Given the description of an element on the screen output the (x, y) to click on. 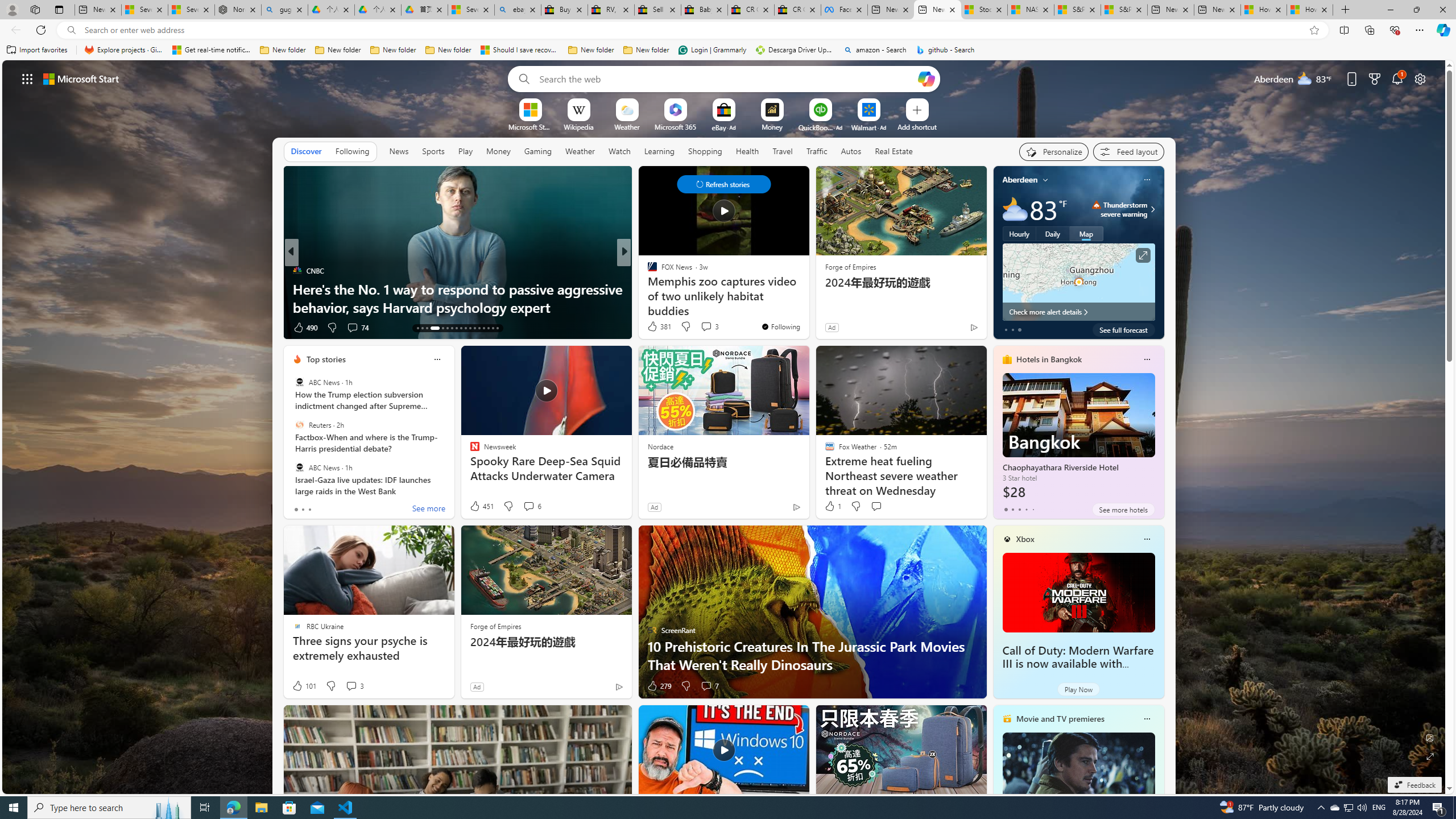
Travel (782, 151)
AutomationID: tab-29 (497, 328)
Class: control (723, 184)
82 Like (652, 327)
See more hotels (1123, 509)
AutomationID: tab-24 (474, 328)
CNN Money (647, 270)
101 Like (303, 685)
ABC News (299, 466)
Larger map  (1077, 282)
View comments 3 Comment (354, 685)
View comments 10 Comment (704, 327)
